Given the description of an element on the screen output the (x, y) to click on. 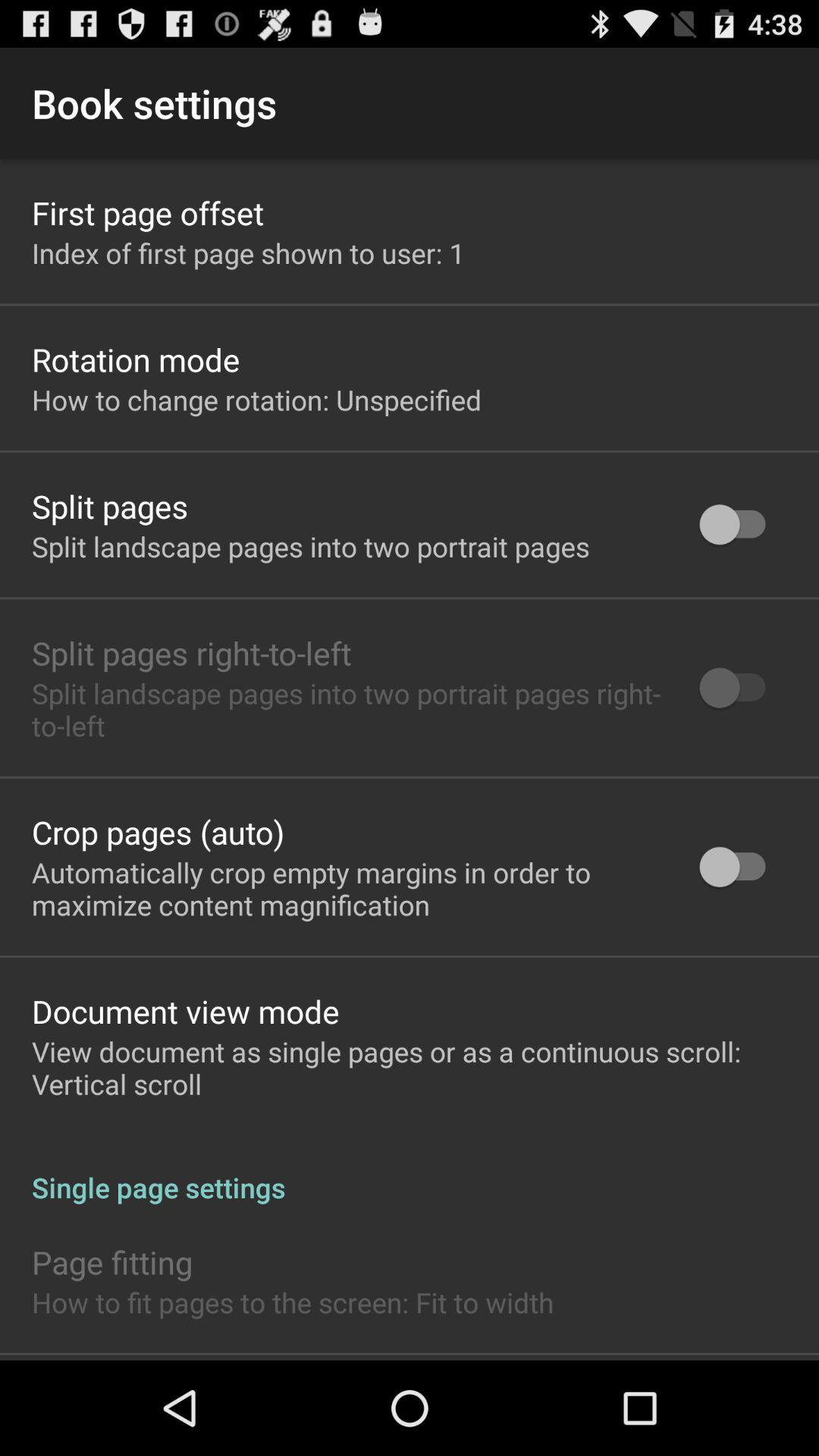
turn on the app above document view mode item (345, 888)
